Given the description of an element on the screen output the (x, y) to click on. 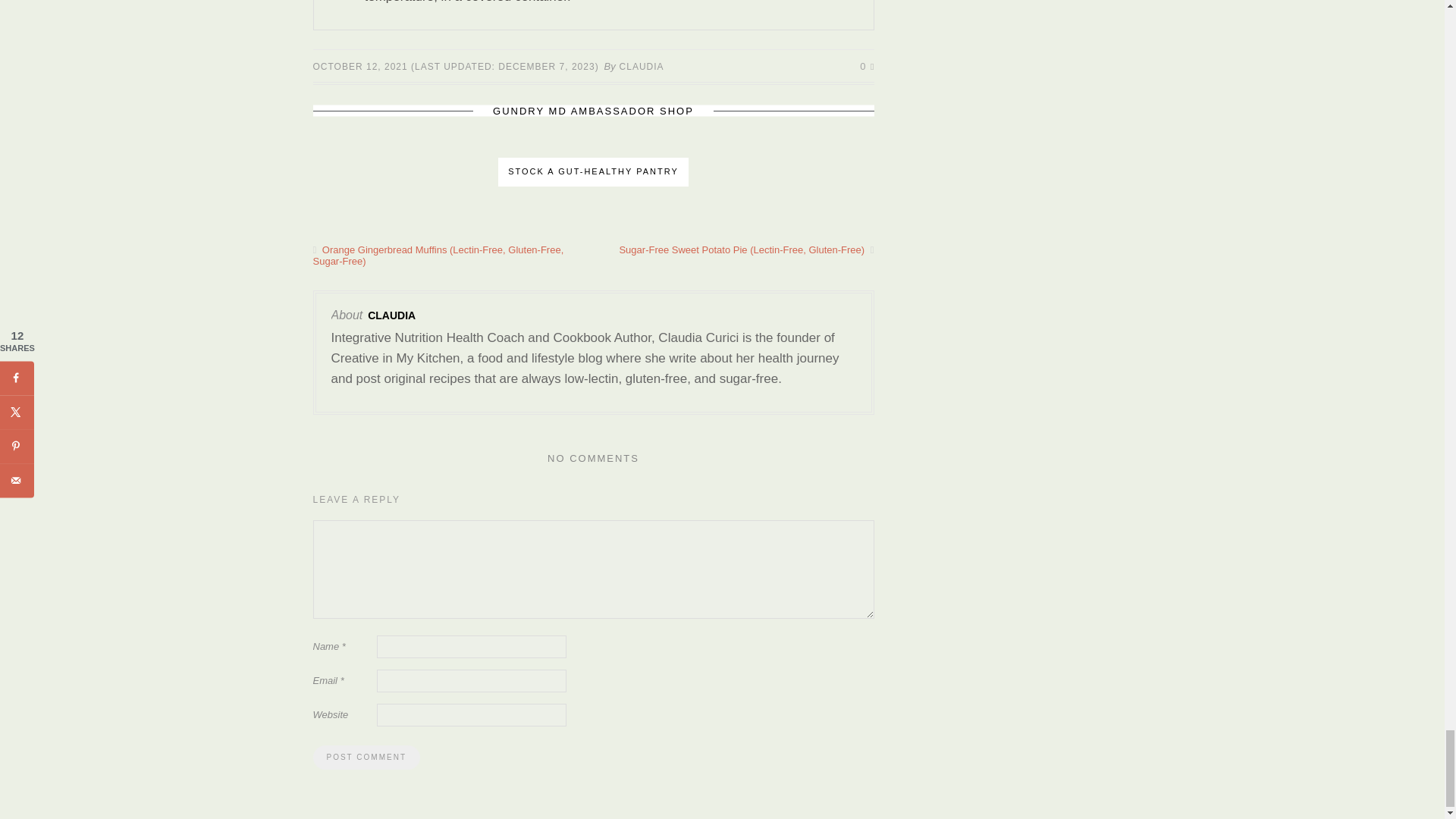
Posts by Claudia (391, 315)
Posts by Claudia (641, 66)
Post Comment (366, 757)
